Given the description of an element on the screen output the (x, y) to click on. 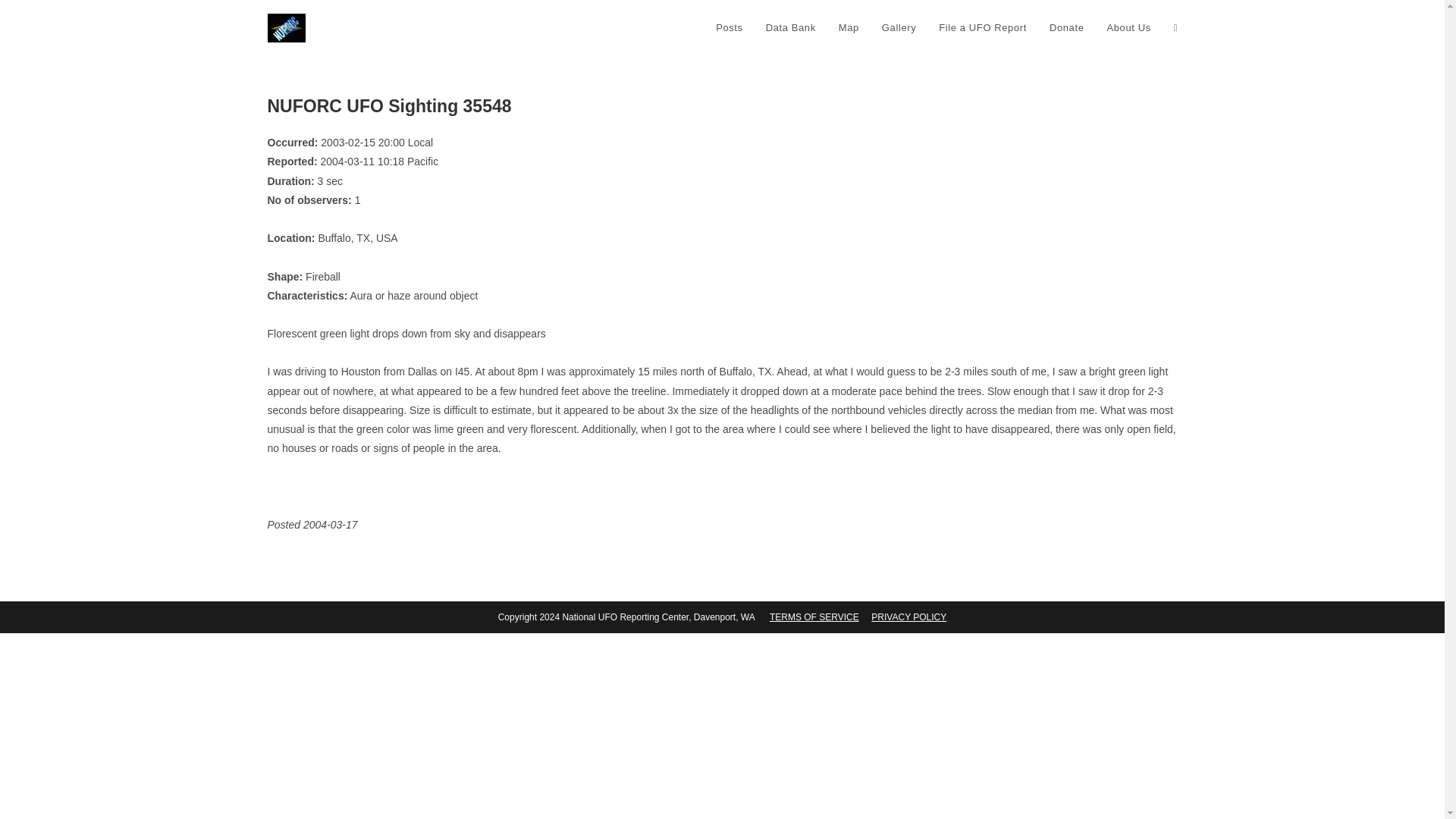
File a UFO Report (982, 28)
Donate (1067, 28)
Data Bank (790, 28)
Gallery (898, 28)
PRIVACY POLICY (908, 616)
Posts (729, 28)
About Us (1127, 28)
TERMS OF SERVICE (814, 616)
